Given the description of an element on the screen output the (x, y) to click on. 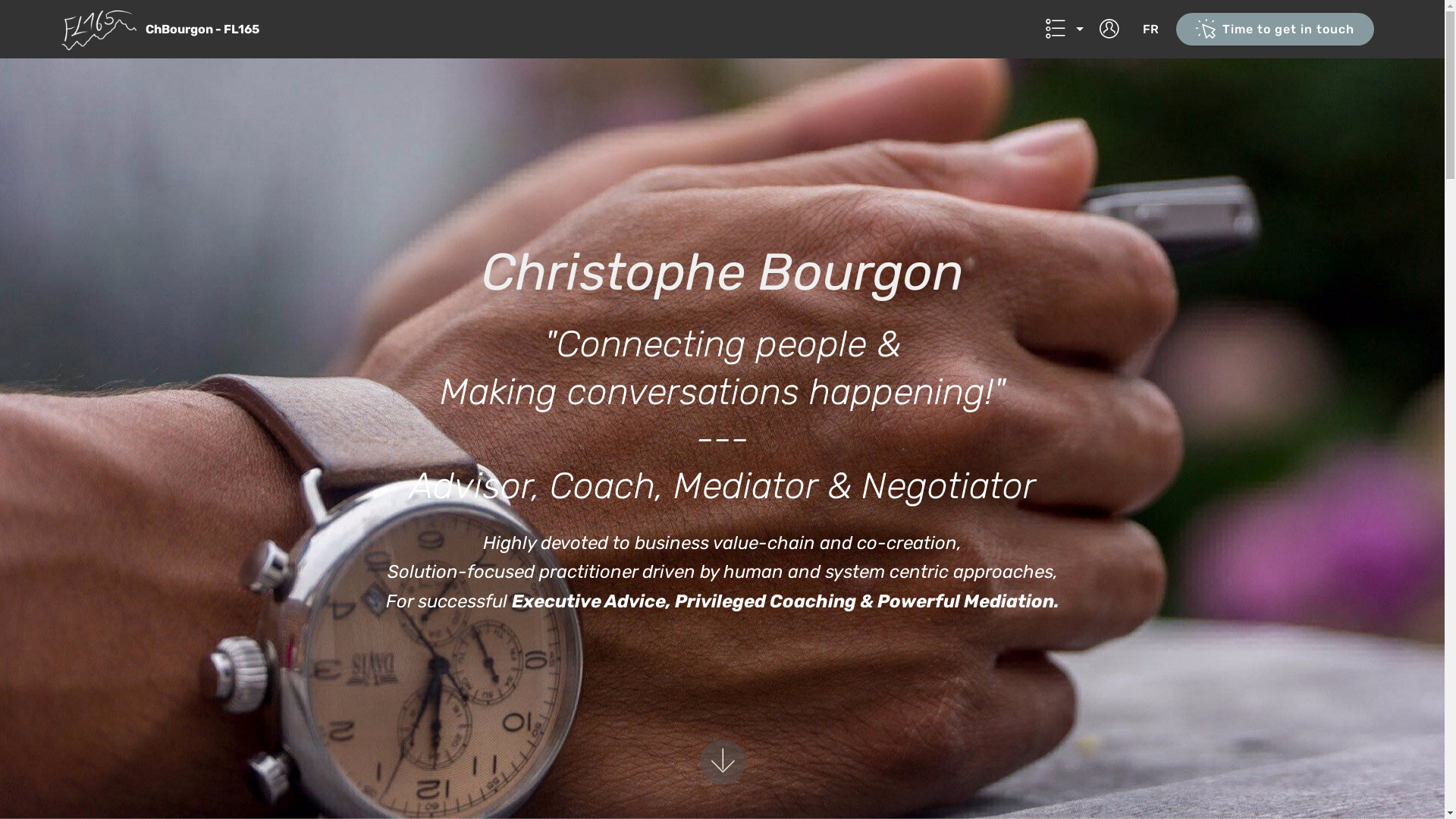
ChBourgon - FL165 Element type: text (214, 28)
FR Element type: text (1150, 28)
Time to get in touch Element type: text (1275, 28)
